Given the description of an element on the screen output the (x, y) to click on. 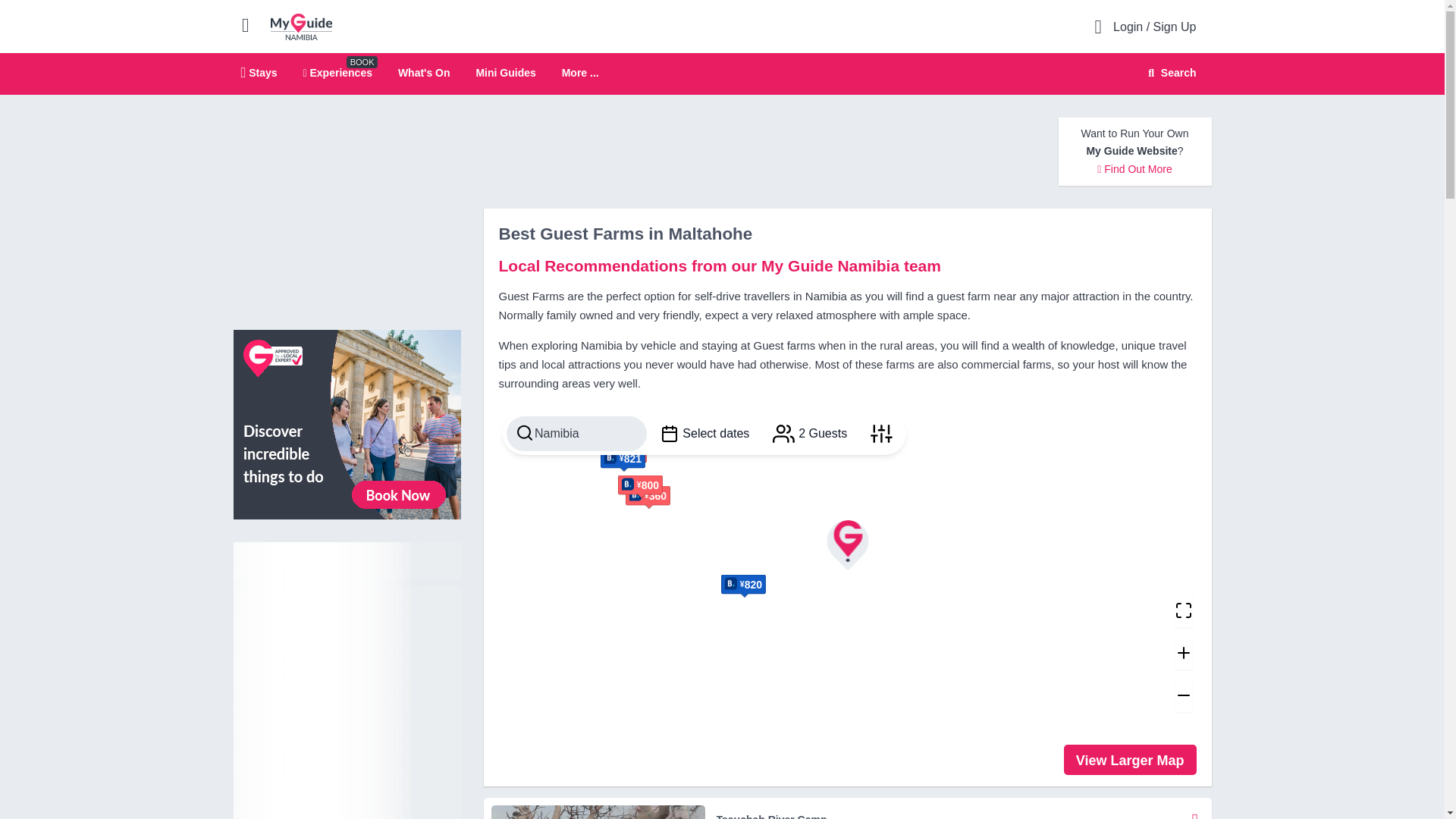
Add to My Guide (1195, 812)
More ... (580, 72)
Stays (259, 72)
Search (1169, 72)
Mini Guides (505, 72)
View All Experiences (346, 423)
Larger Map for Company: Guest Farms  (1130, 759)
Experiences (337, 72)
My Guide Namibia (300, 25)
What's On (423, 72)
